Given the description of an element on the screen output the (x, y) to click on. 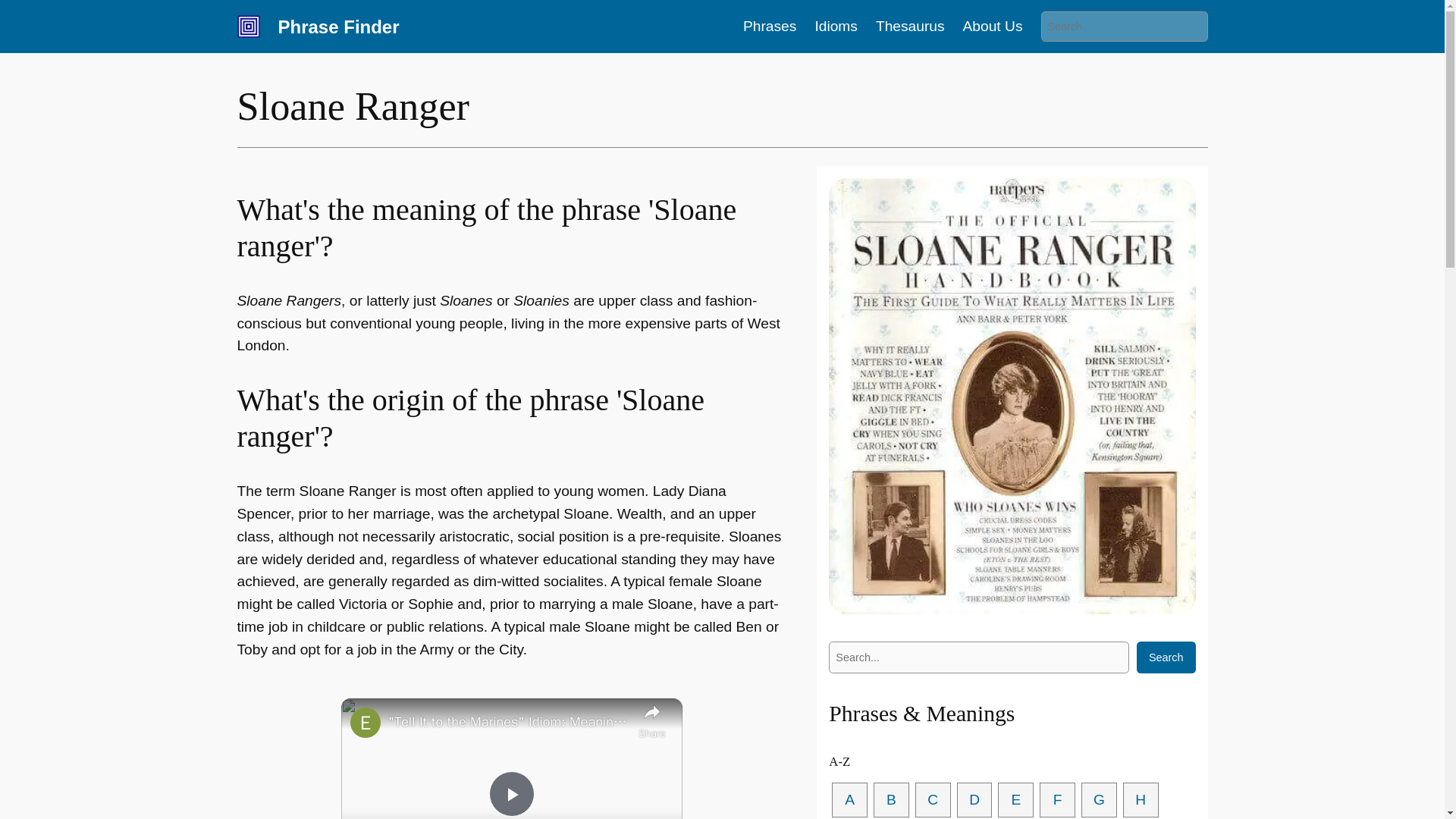
D (974, 800)
G (1098, 800)
C (932, 800)
Search (1166, 657)
Idioms (835, 26)
Phrases (769, 26)
B (890, 800)
F (1057, 800)
E (1015, 800)
About Us (992, 26)
Phrase Finder (338, 26)
Thesaurus (910, 26)
Play Video (511, 793)
H (1140, 800)
